Given the description of an element on the screen output the (x, y) to click on. 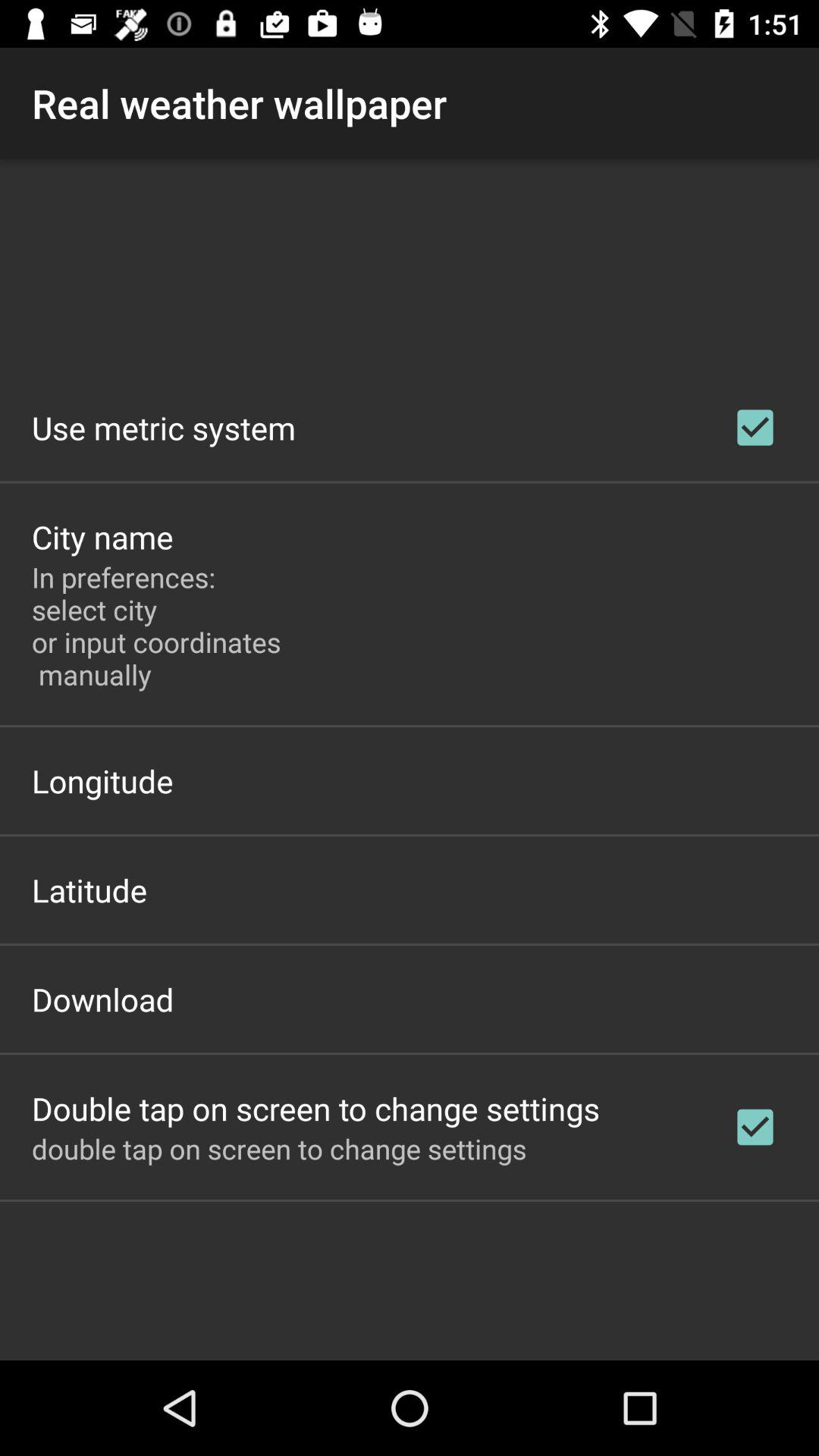
click item below the latitude app (102, 998)
